Given the description of an element on the screen output the (x, y) to click on. 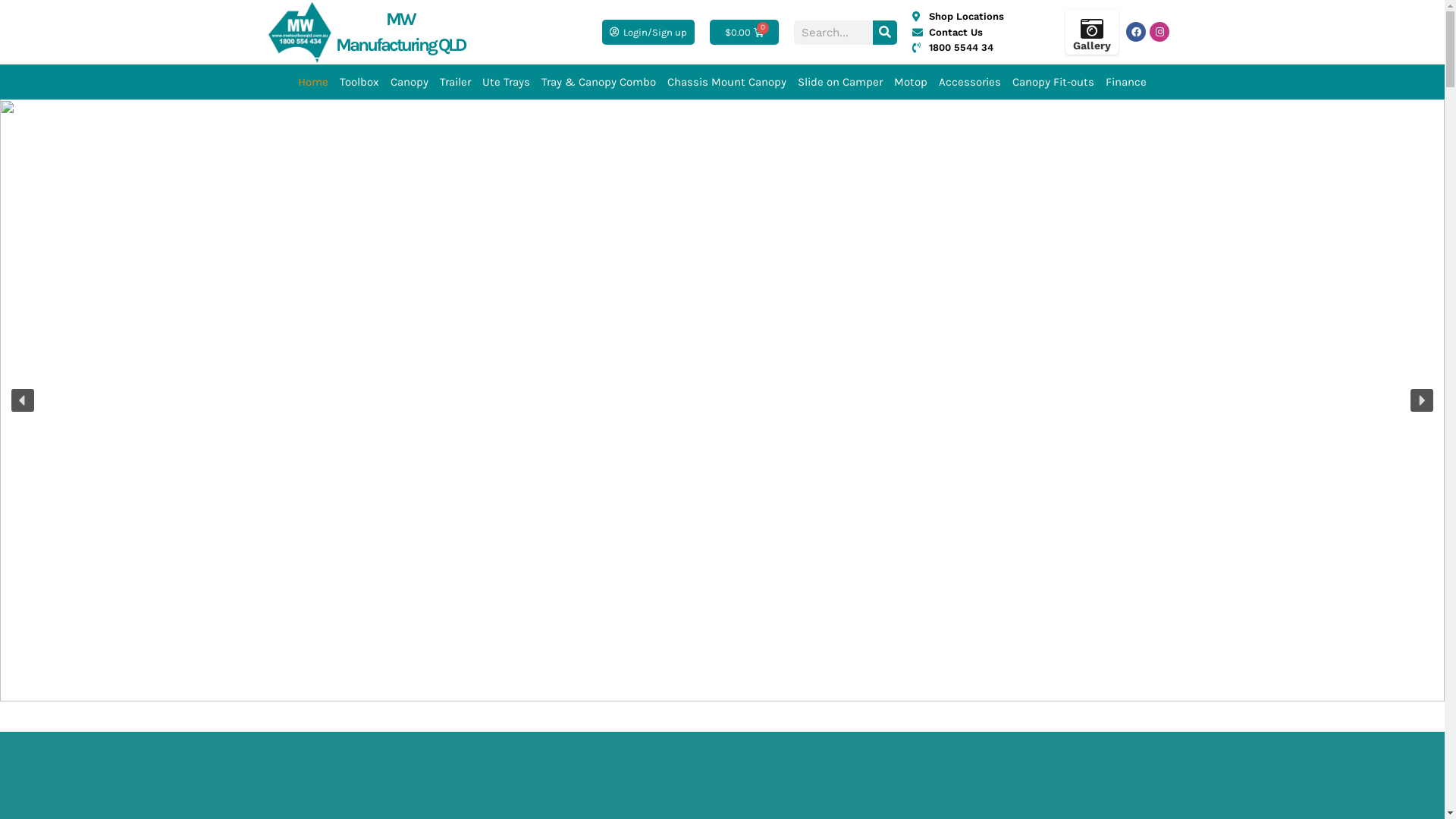
Motop Element type: text (910, 81)
Tray & Canopy Combo Element type: text (598, 81)
Slide on Camper Element type: text (839, 81)
Gallery Element type: text (1091, 45)
$0.00
0
Cart Element type: text (743, 31)
Trailer Element type: text (454, 81)
Accessories Element type: text (969, 81)
Home Element type: text (313, 81)
Chassis Mount Canopy Element type: text (726, 81)
Login/Sign up Element type: text (648, 31)
Canopy Element type: text (409, 81)
Facebook Element type: text (1135, 31)
Canopy Fit-outs Element type: text (1053, 81)
Finance Element type: text (1125, 81)
1800 5544 34 Element type: text (971, 47)
Search Element type: text (884, 31)
Shop Locations Element type: text (971, 16)
Instagram Element type: text (1159, 31)
Contact Us Element type: text (971, 32)
MW
Manufacturing QLD Element type: text (399, 31)
Ute Trays Element type: text (506, 81)
Toolbox Element type: text (359, 81)
